Given the description of an element on the screen output the (x, y) to click on. 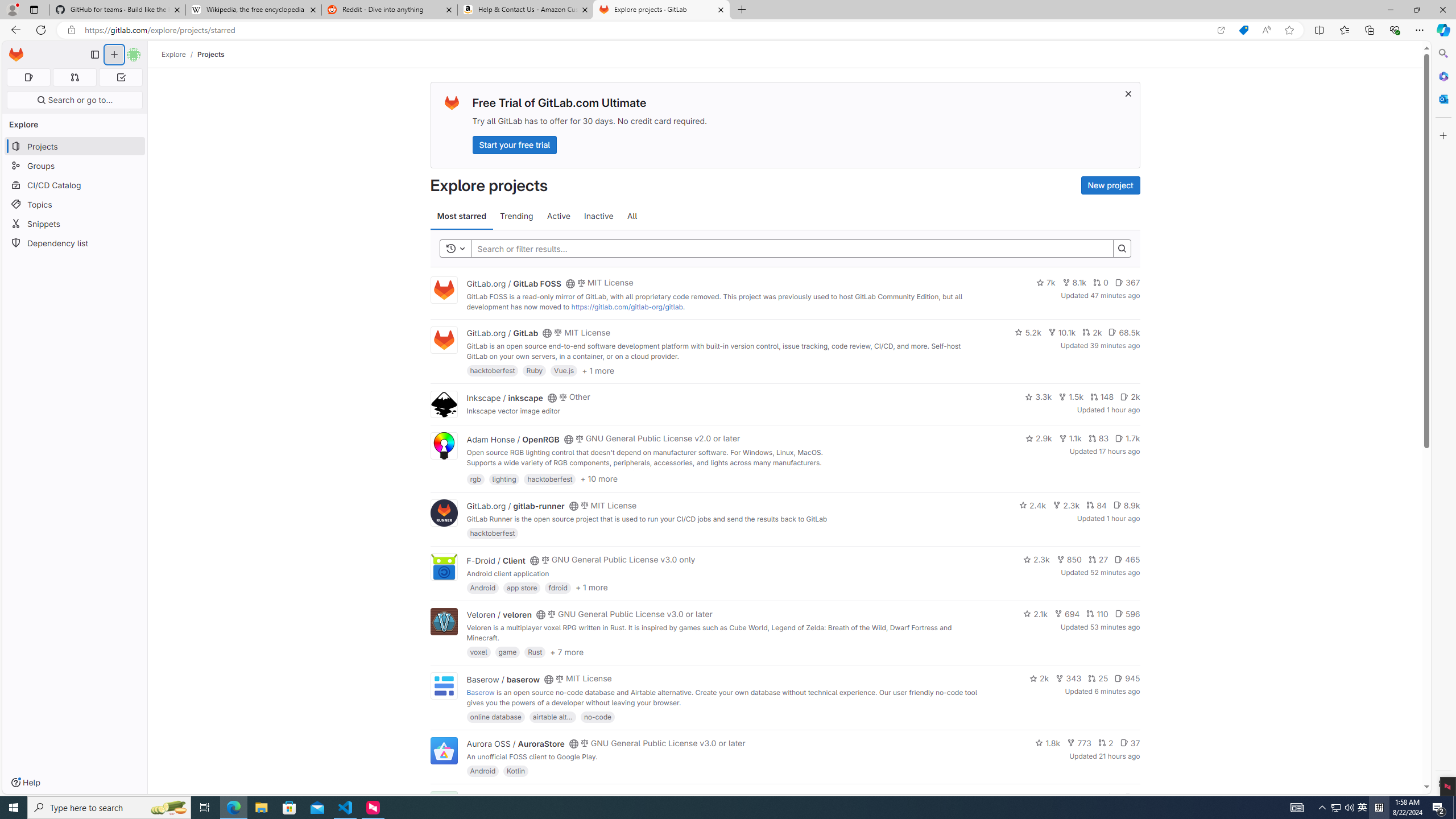
Toggle history (455, 248)
CI/CD Catalog (74, 185)
+ 7 more (566, 651)
2 (1105, 742)
25 (1097, 678)
Topics (74, 203)
Inkscape / inkscape (504, 397)
596 (1127, 613)
Edouard Klein / falsisign (512, 797)
